Given the description of an element on the screen output the (x, y) to click on. 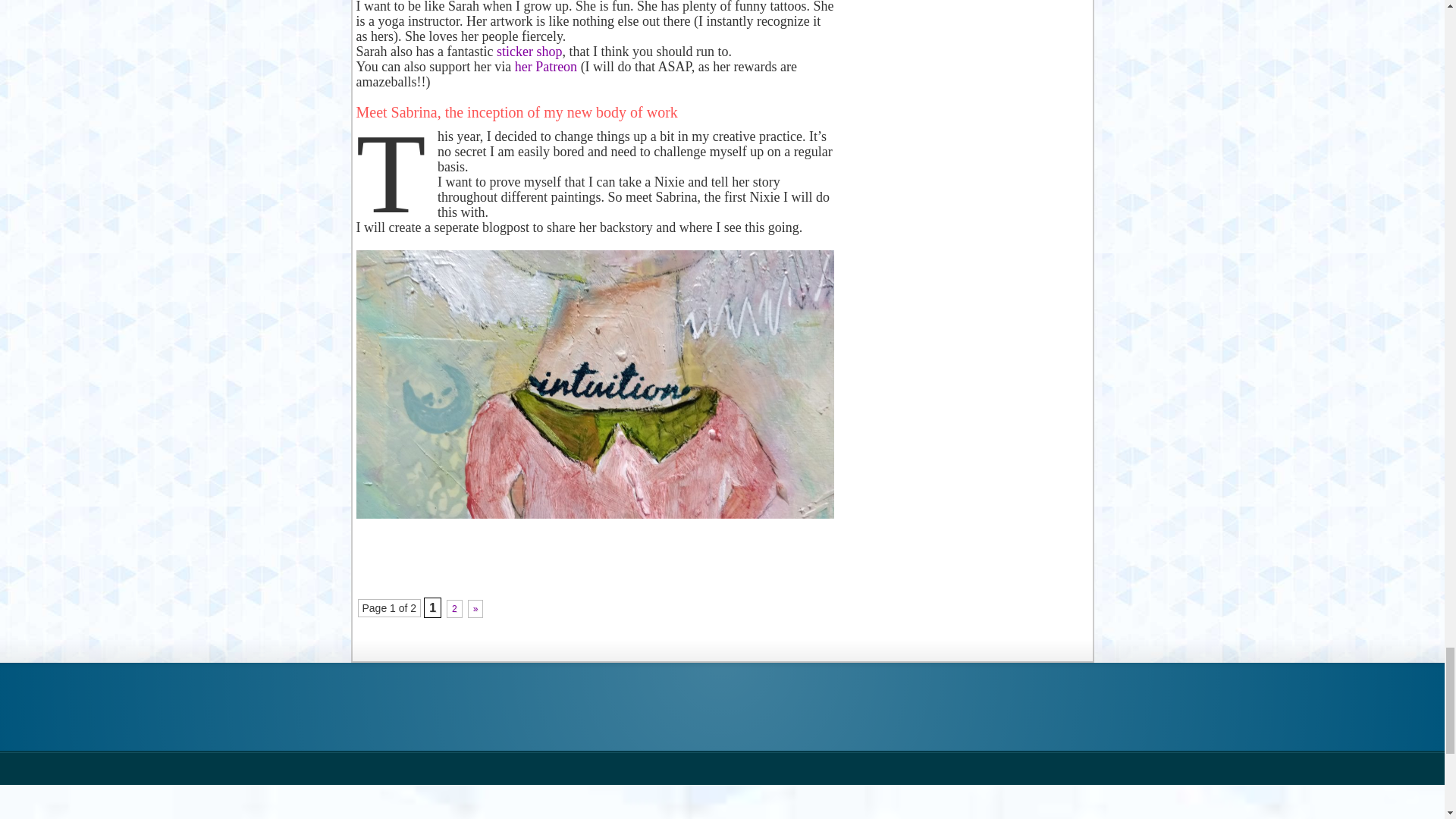
2 (454, 608)
her Patreon (545, 66)
sticker shop (529, 51)
Page 2 (454, 608)
